Given the description of an element on the screen output the (x, y) to click on. 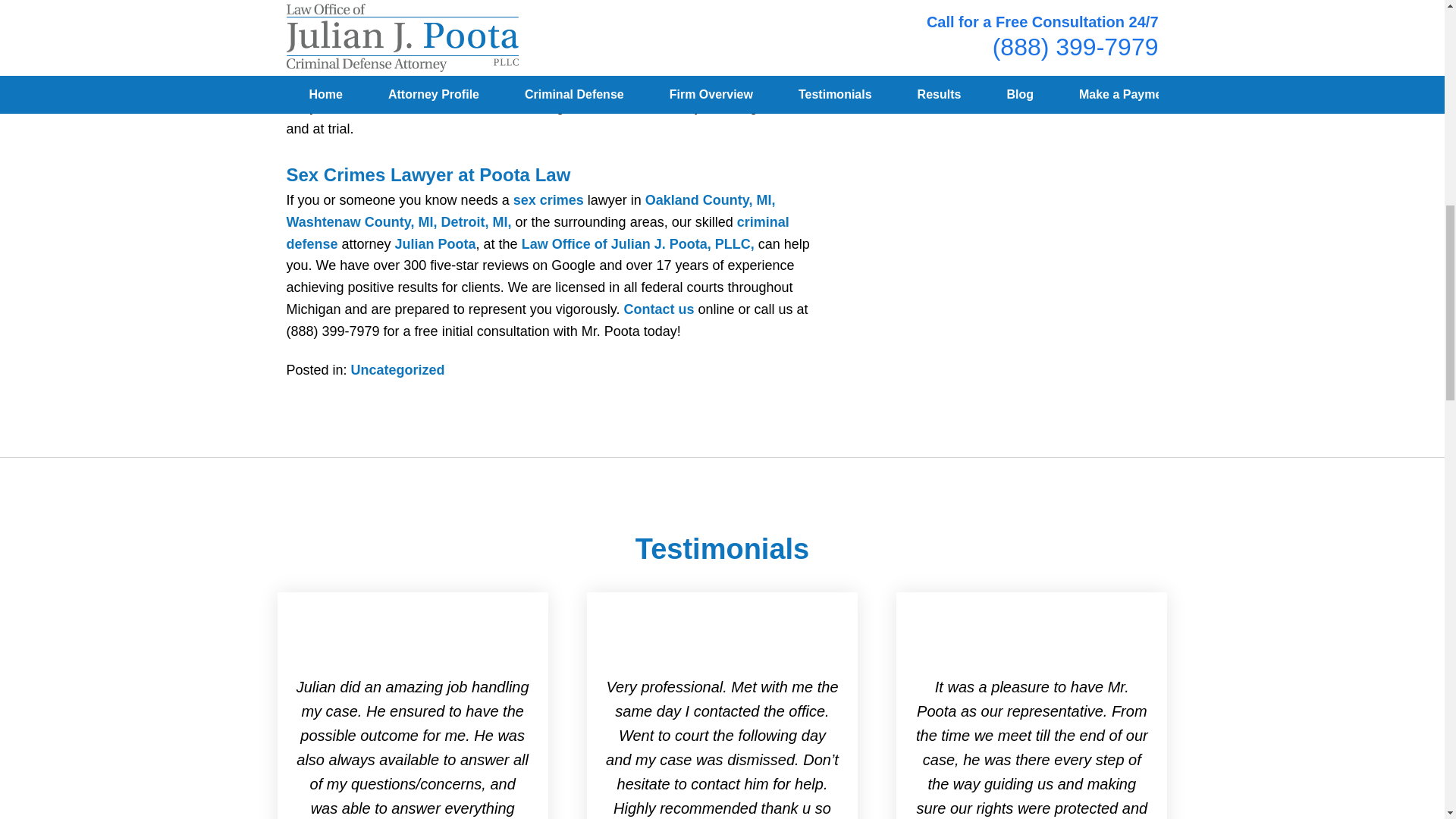
Detroit, MI, (476, 222)
Oakland County, MI, (710, 200)
sex crimes (548, 200)
Washtenaw County, MI, (362, 222)
